Given the description of an element on the screen output the (x, y) to click on. 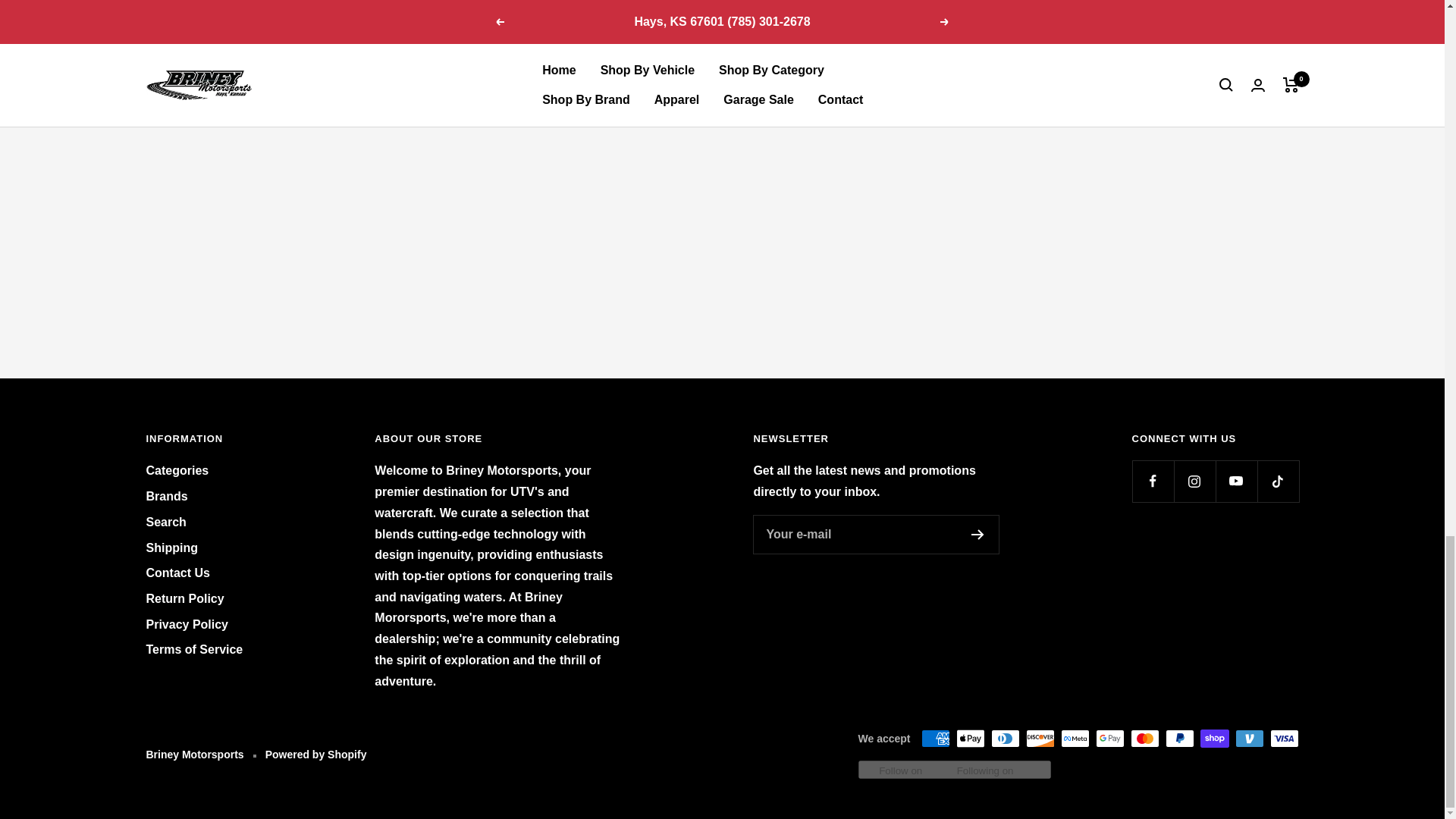
Register (977, 534)
